Given the description of an element on the screen output the (x, y) to click on. 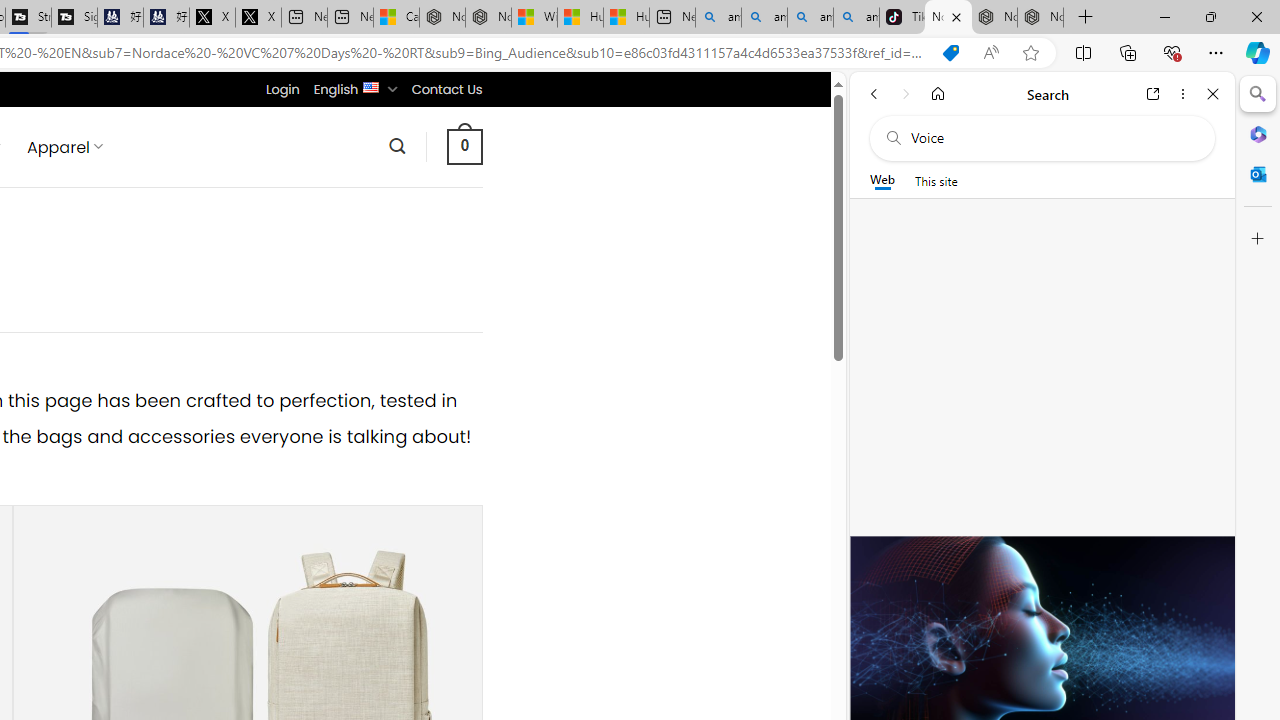
Web scope (882, 180)
Outlook (1258, 174)
